Given the description of an element on the screen output the (x, y) to click on. 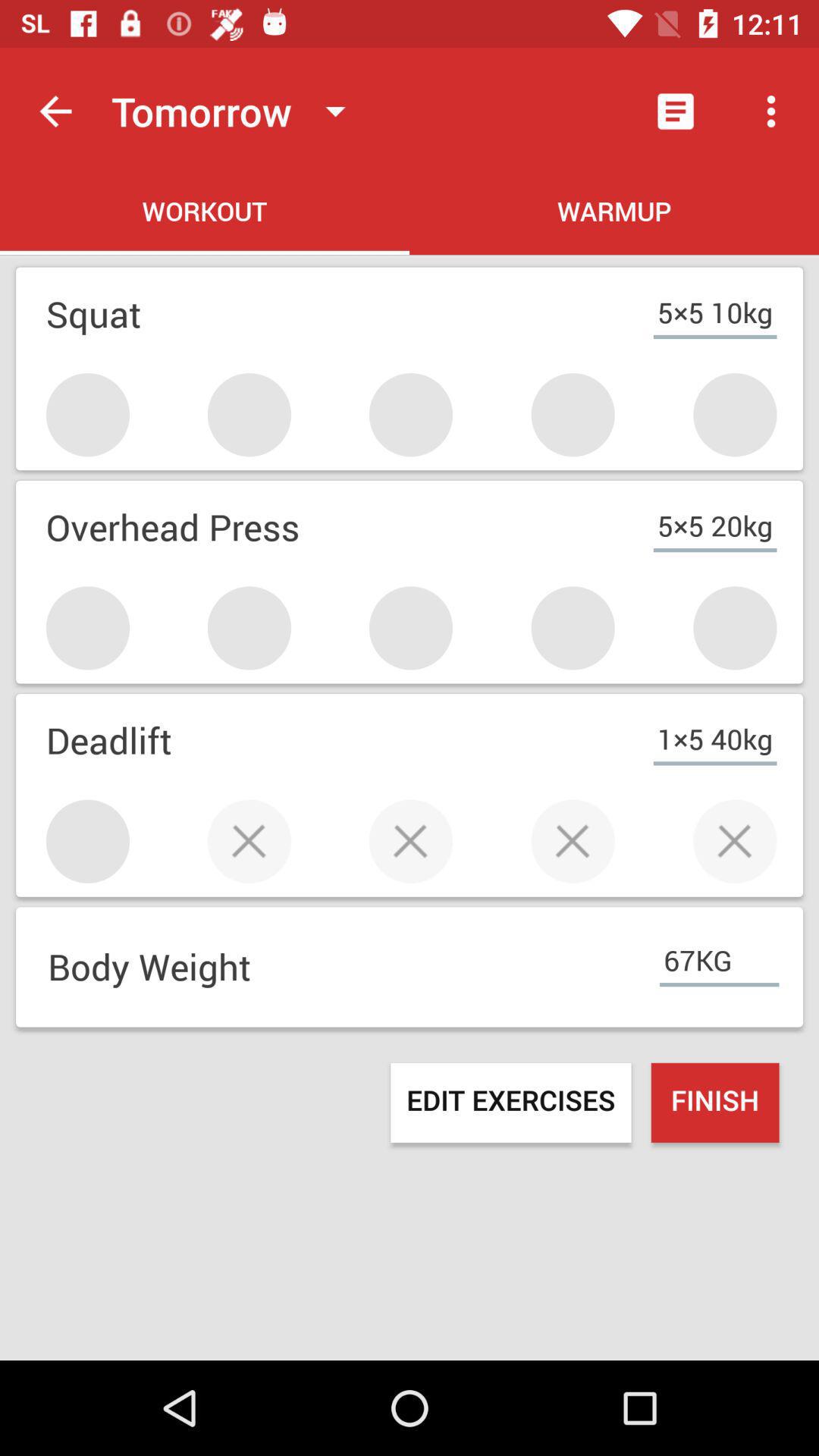
open item below 67kg item (715, 1102)
